Given the description of an element on the screen output the (x, y) to click on. 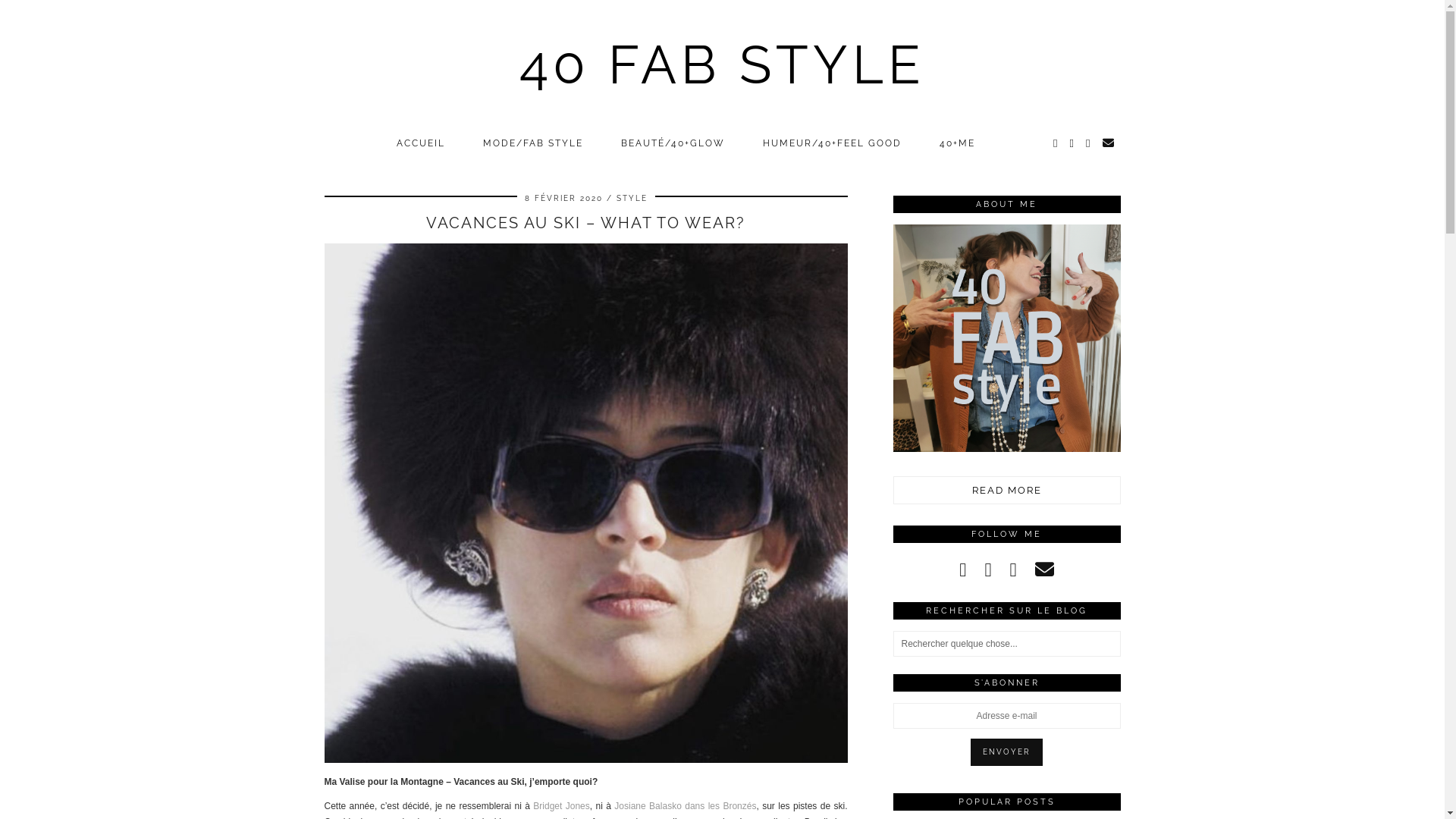
ACCUEIL Element type: text (424, 142)
instagram Element type: hover (962, 569)
40 FAB STYLE Element type: text (722, 64)
Bridget Jones Element type: text (561, 805)
facebook Element type: hover (987, 569)
Facebook Element type: hover (1088, 142)
MODE/FAB STYLE Element type: text (536, 142)
READ MORE Element type: text (1006, 490)
40+ME Element type: text (960, 142)
Search for: Element type: hover (1006, 643)
HUMEUR/40+FEEL GOOD Element type: text (835, 142)
STYLE Element type: text (630, 198)
Instagram Element type: hover (1055, 142)
Pinterest Element type: hover (1072, 142)
ENVOYER Element type: text (1006, 751)
pinterest Element type: hover (1013, 569)
Email Element type: hover (1044, 569)
Email Element type: hover (1108, 142)
